Given the description of an element on the screen output the (x, y) to click on. 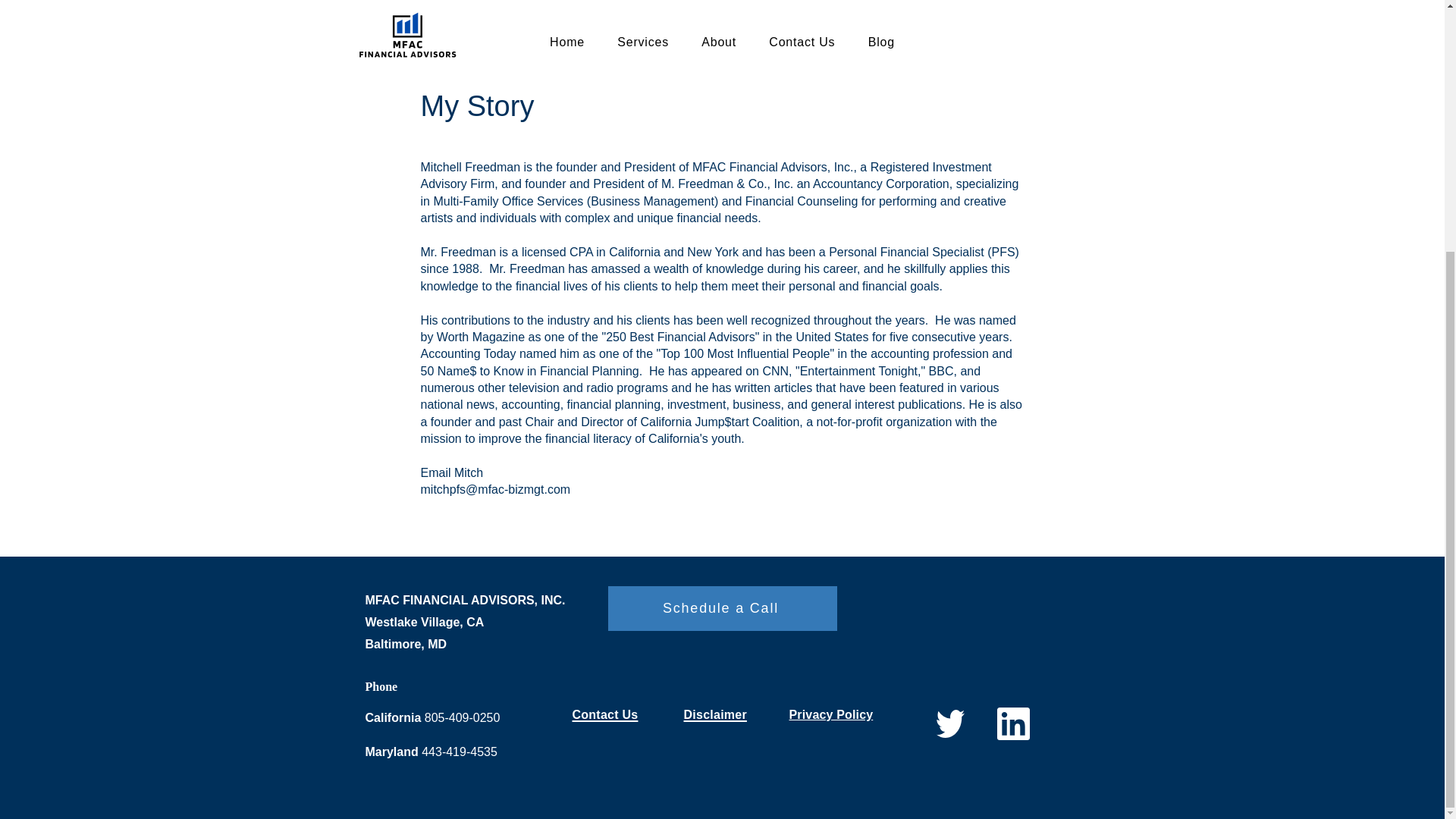
Privacy Policy (830, 714)
Contact Us (604, 714)
Disclaimer (715, 714)
Schedule a Call (722, 608)
